Given the description of an element on the screen output the (x, y) to click on. 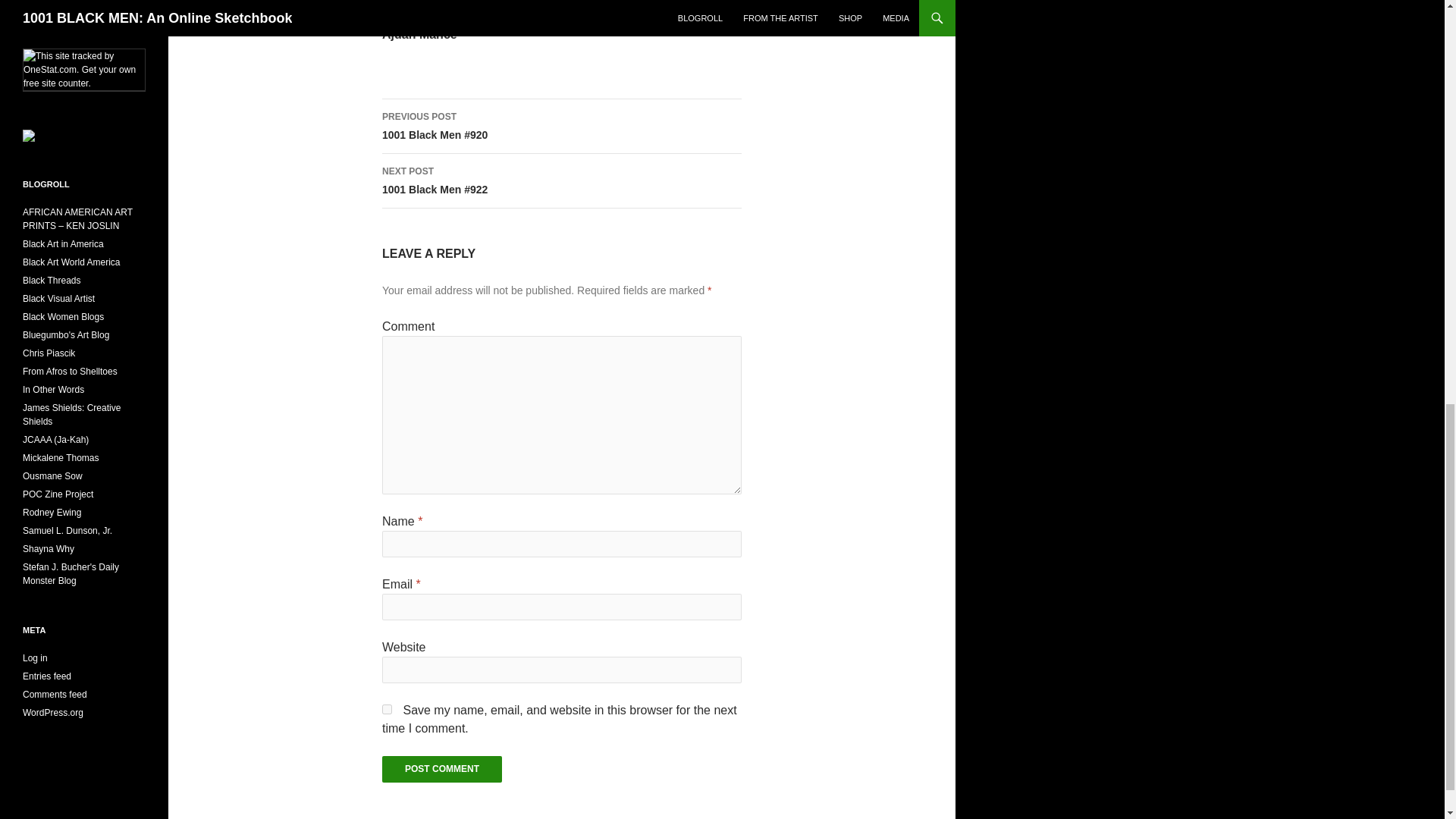
Post Comment (441, 768)
yes (386, 709)
Post Comment (441, 768)
